Given the description of an element on the screen output the (x, y) to click on. 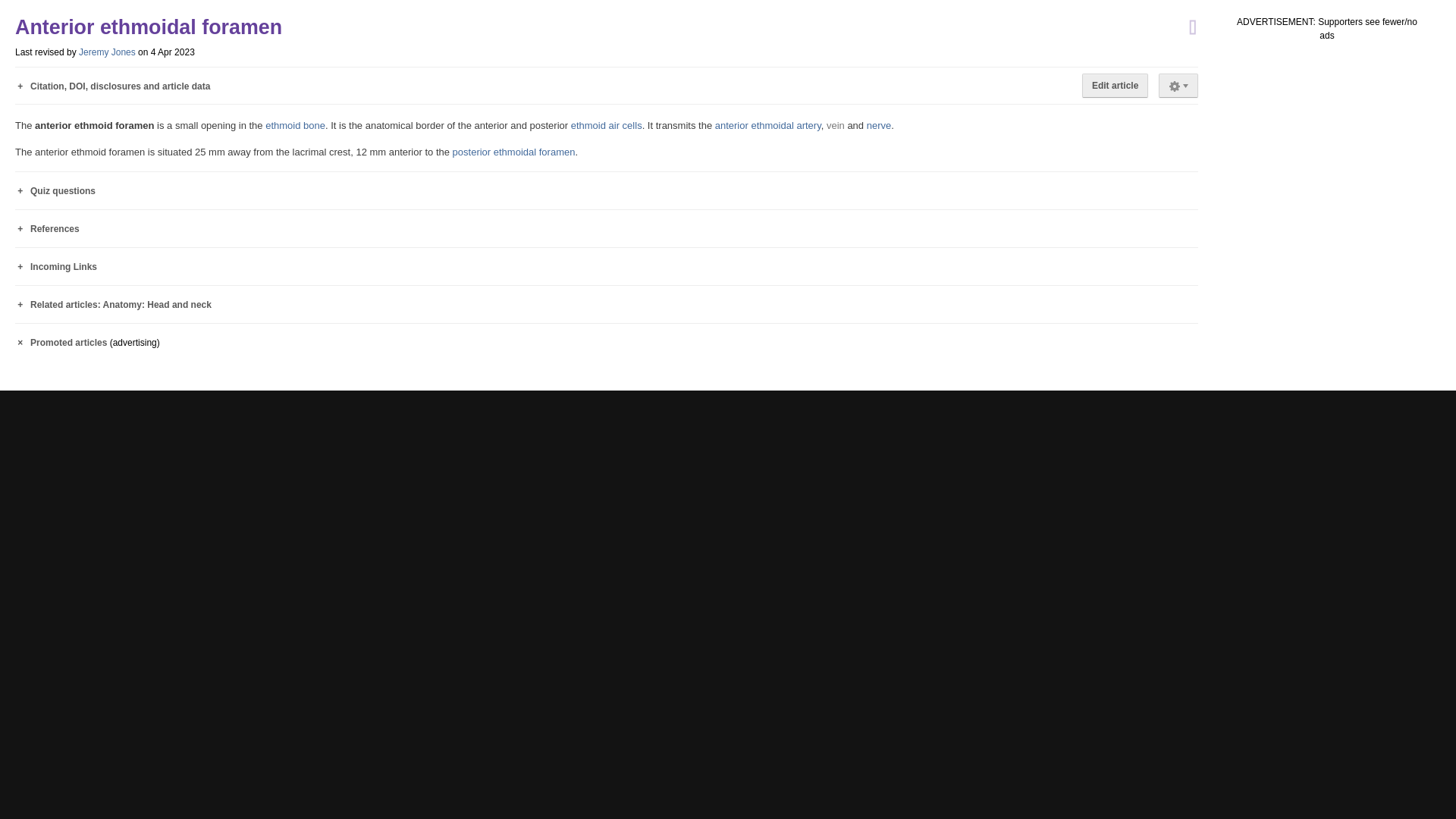
posterior ethmoidal foramen (513, 152)
vein (835, 125)
Edit article (1114, 85)
anterior ethmoidal artery (767, 125)
ethmoid bone (294, 125)
anterior ethmoidal vein (835, 125)
ethmoid air cells (606, 125)
Jeremy Jones (106, 51)
nerve (878, 125)
